Given the description of an element on the screen output the (x, y) to click on. 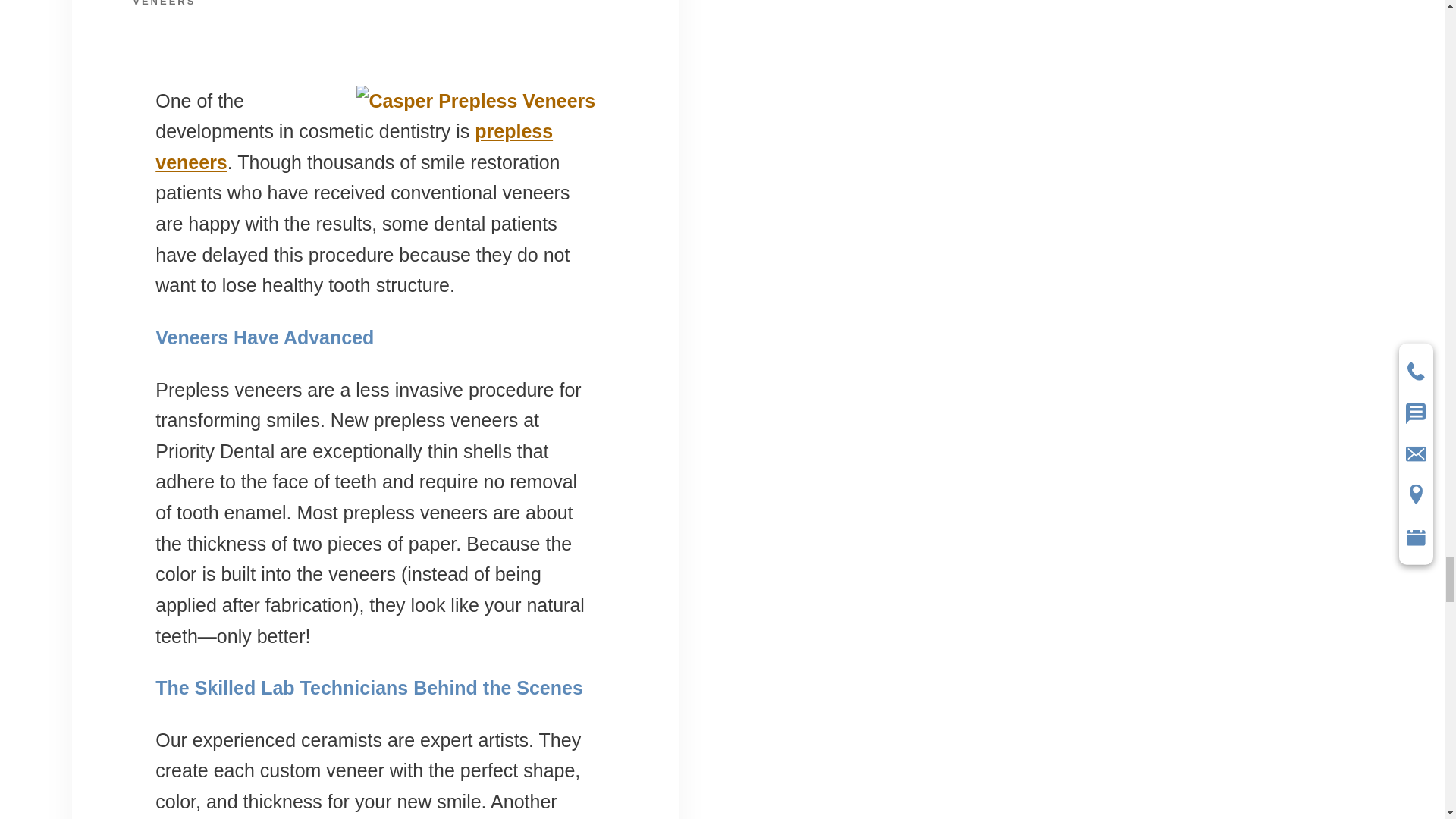
Casper prepless veneers (354, 146)
